Given the description of an element on the screen output the (x, y) to click on. 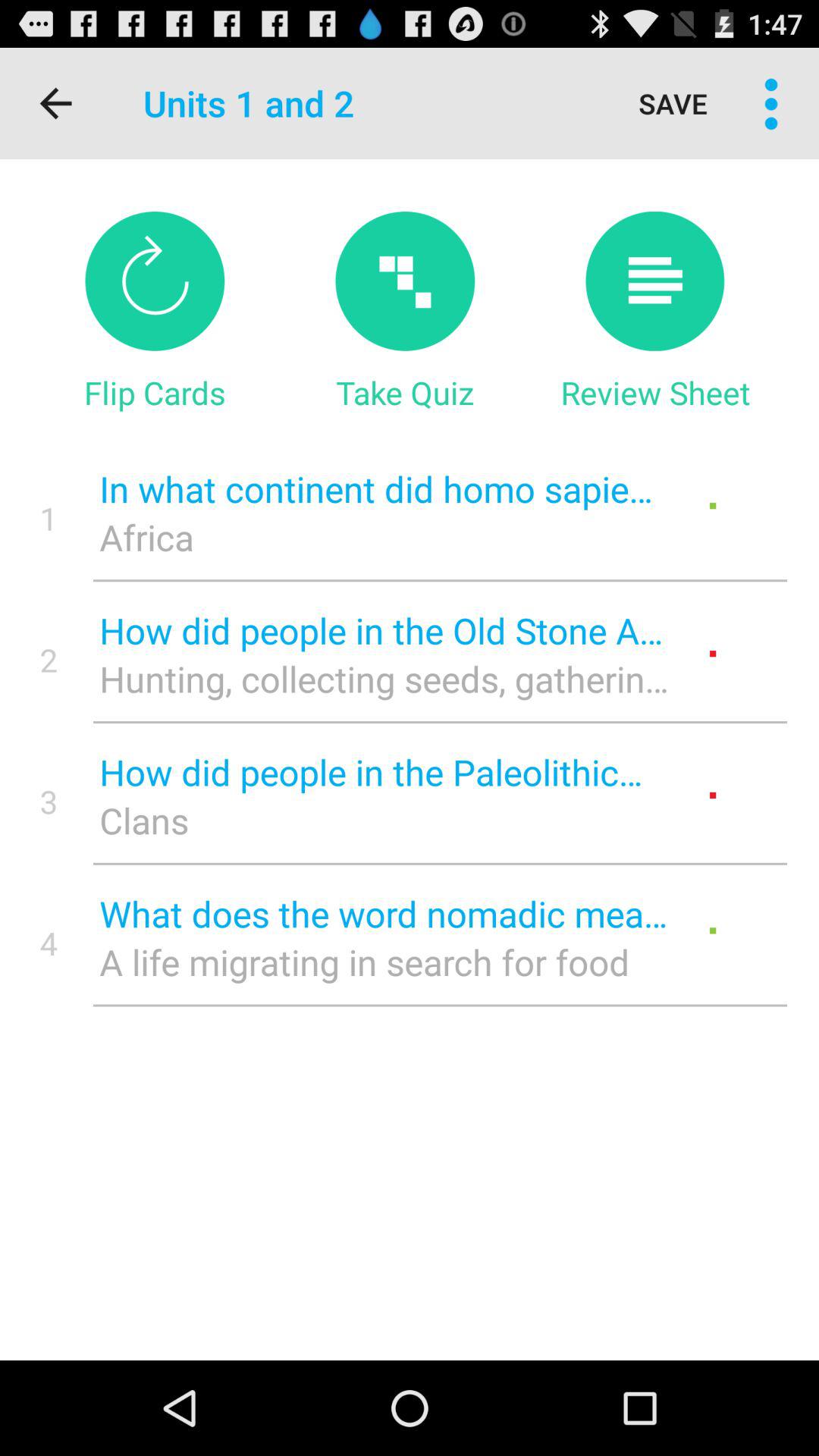
click the clans (384, 820)
